Given the description of an element on the screen output the (x, y) to click on. 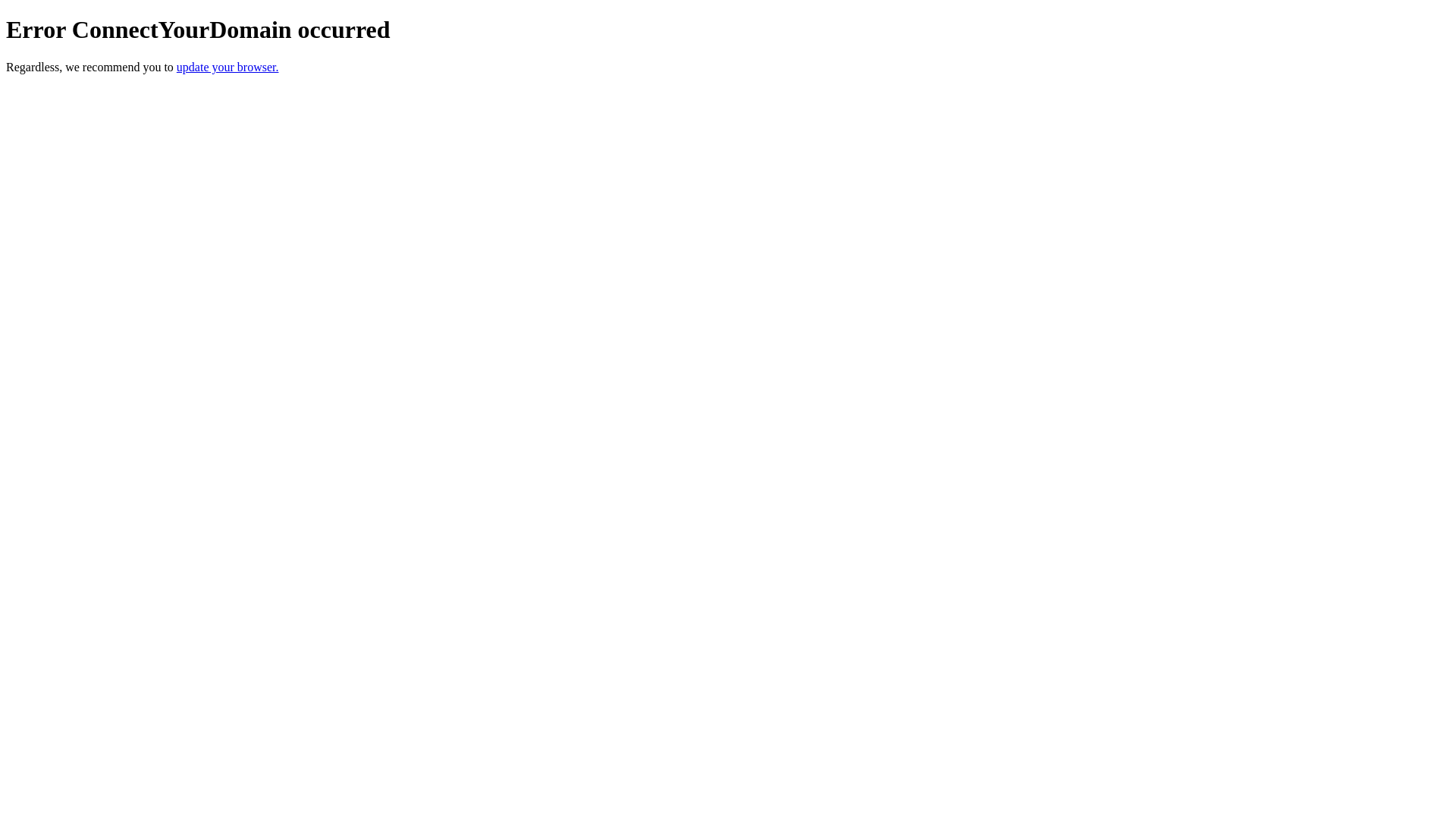
update your browser. Element type: text (227, 66)
